Given the description of an element on the screen output the (x, y) to click on. 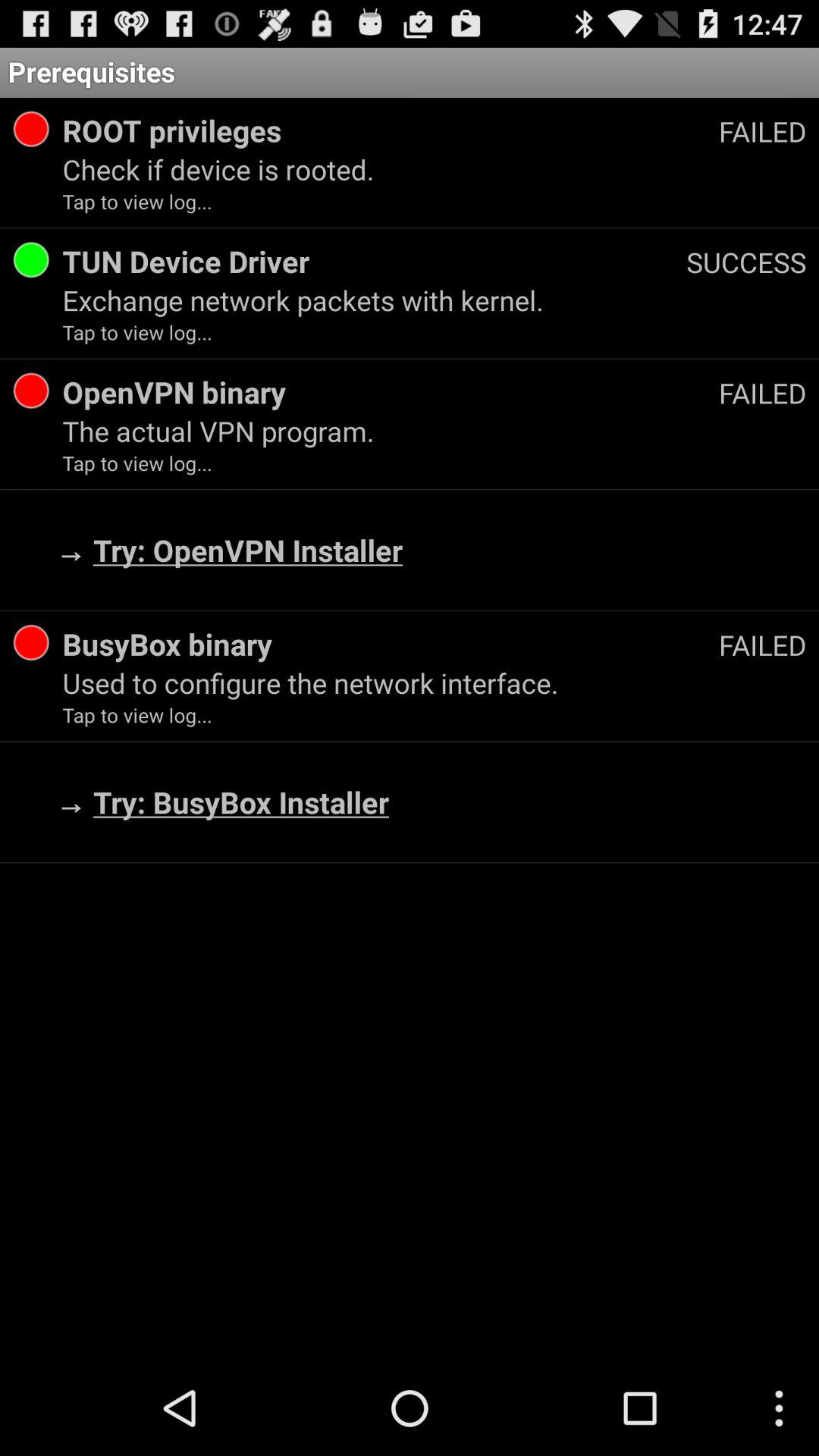
press item to the left of failed item (390, 643)
